Given the description of an element on the screen output the (x, y) to click on. 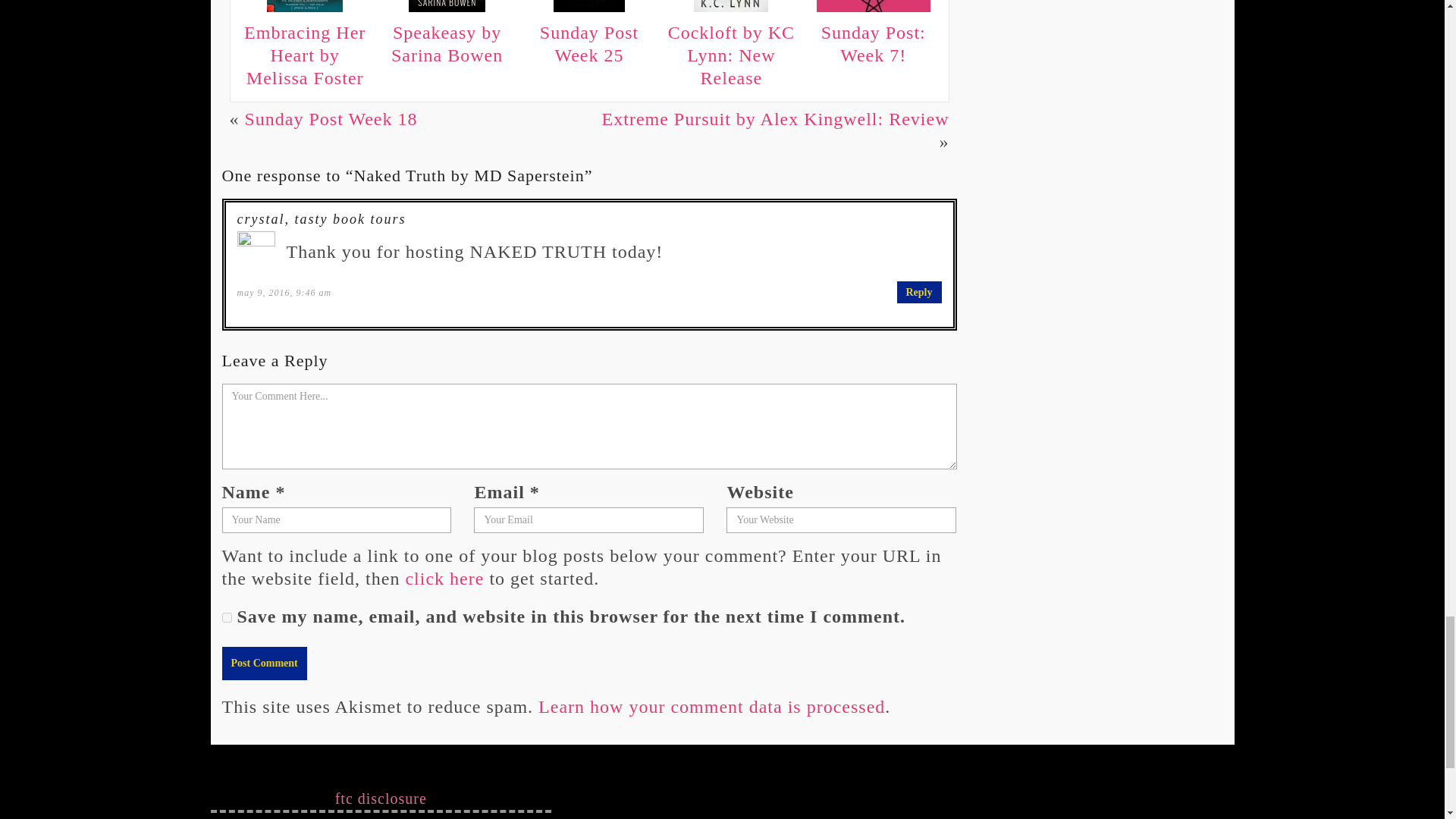
yes (226, 617)
Post Comment (263, 663)
